Given the description of an element on the screen output the (x, y) to click on. 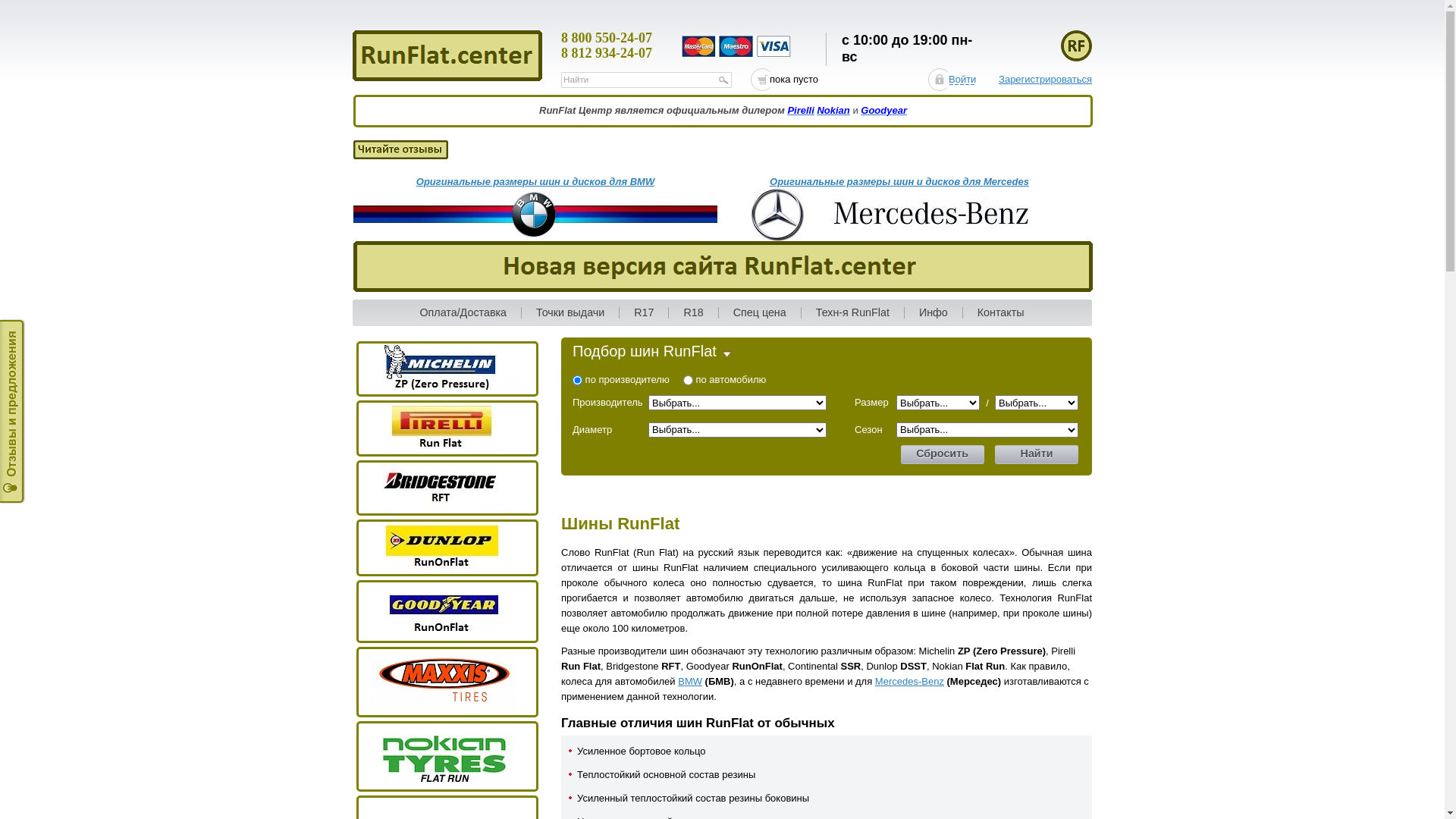
Pirelli RunFlat Element type: hover (443, 425)
Pirelli Element type: text (800, 110)
Goodyear Element type: text (883, 110)
Bridgestone RunFlat Element type: hover (443, 485)
R17 Element type: text (643, 312)
BMW Element type: text (689, 681)
Goodyear RunFlat Element type: hover (443, 609)
MAXXIS Element type: hover (443, 679)
Michelin RunFlat Element type: hover (443, 366)
R18 Element type: text (693, 312)
Dunlop RunFlat Element type: hover (443, 545)
Nokian RunFlat Element type: hover (443, 753)
Nokian Element type: text (832, 110)
Mercedes-Benz Element type: text (909, 681)
